Given the description of an element on the screen output the (x, y) to click on. 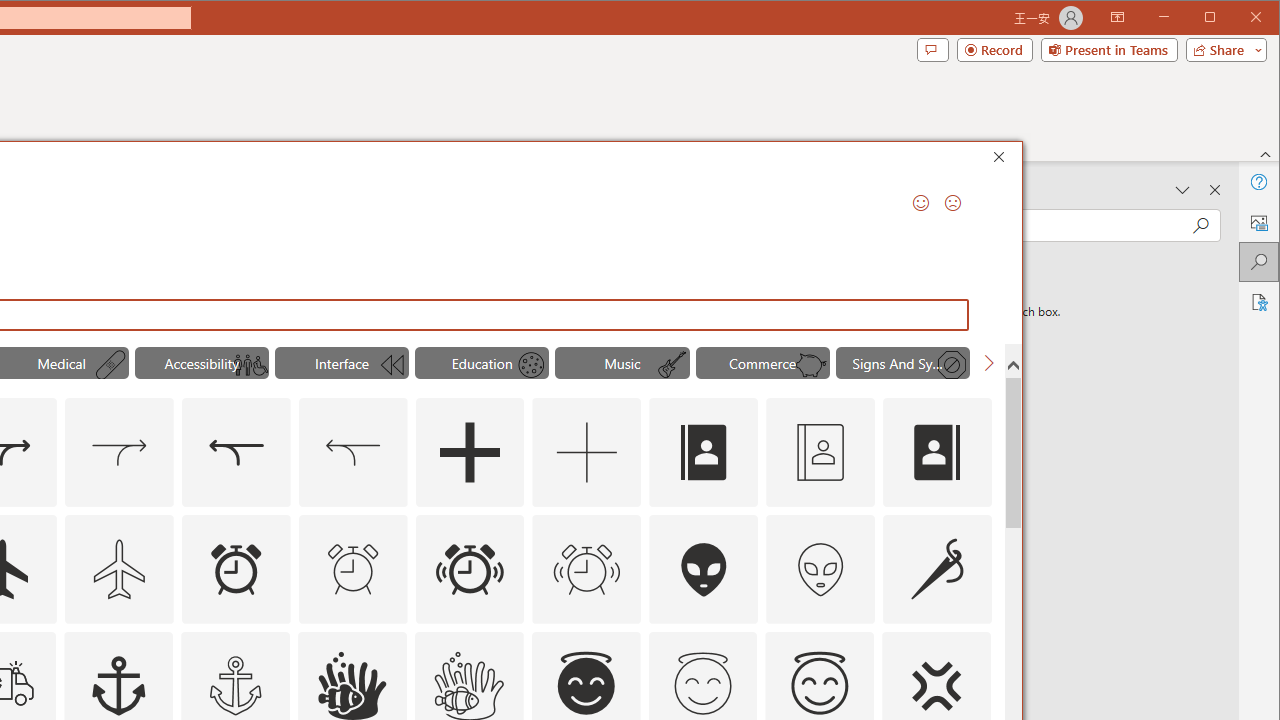
AutomationID: Icons_PiggyBank_M (811, 365)
AutomationID: Icons_Add (469, 452)
Send a Frown (952, 202)
AutomationID: Icons_Airplane_M (118, 568)
Close pane (1215, 189)
AutomationID: Icons_AlienFace_M (820, 568)
AutomationID: Icons_AlarmRinging (469, 568)
AutomationID: Icons_AddressBook_LTR (703, 452)
